Given the description of an element on the screen output the (x, y) to click on. 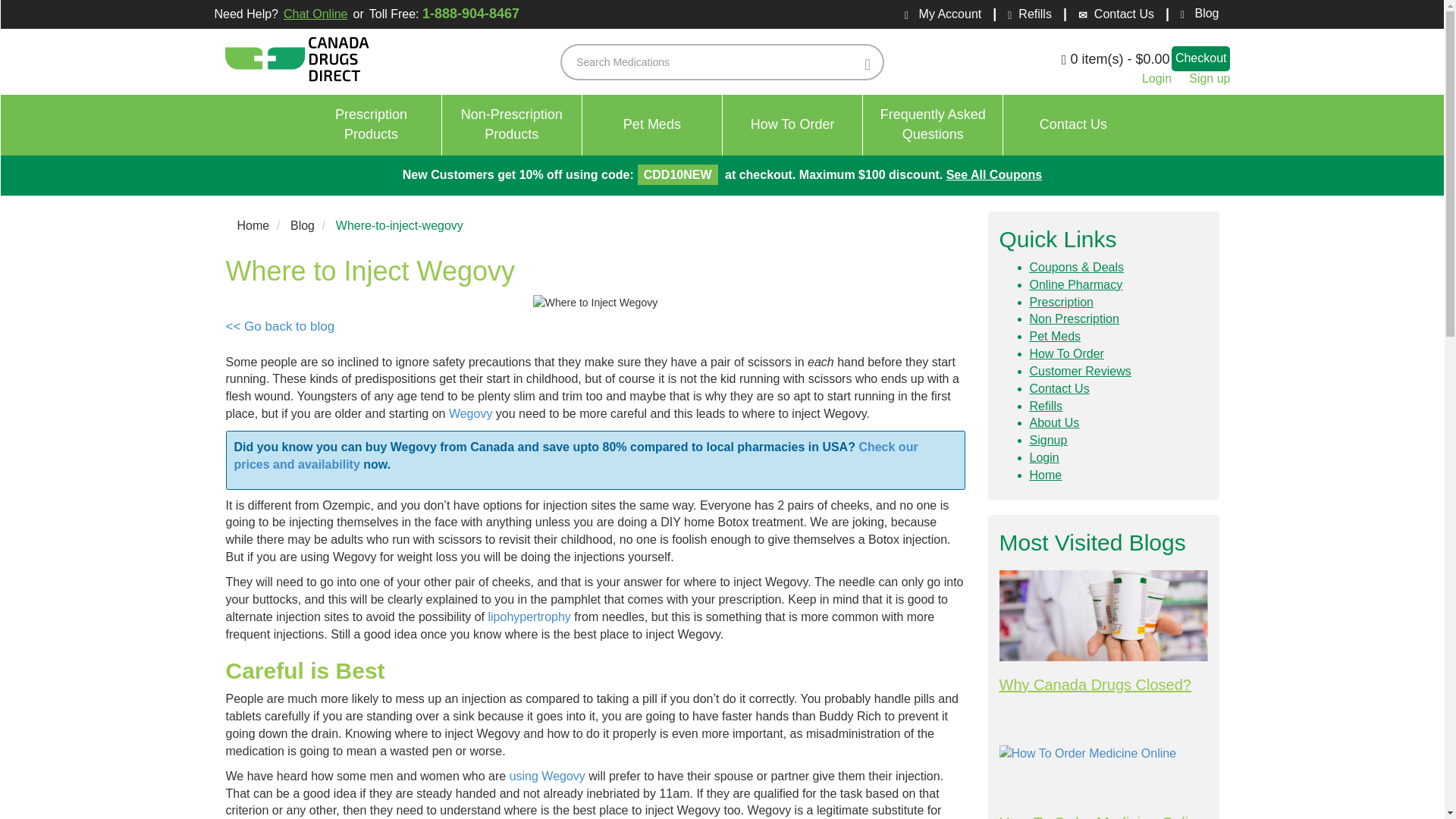
About Us (1054, 422)
How To Order (792, 125)
Checkout (1201, 58)
Why Canada Drugs Closed? (1103, 615)
Login (1156, 78)
Prescription (1061, 301)
How To Order Medicine Online (1103, 753)
Pet Meds (652, 125)
lipohypertrophy (371, 125)
Pet Meds (528, 616)
See All Coupons (1055, 336)
Login (994, 174)
using Wegovy (1044, 457)
Refills (547, 775)
